Given the description of an element on the screen output the (x, y) to click on. 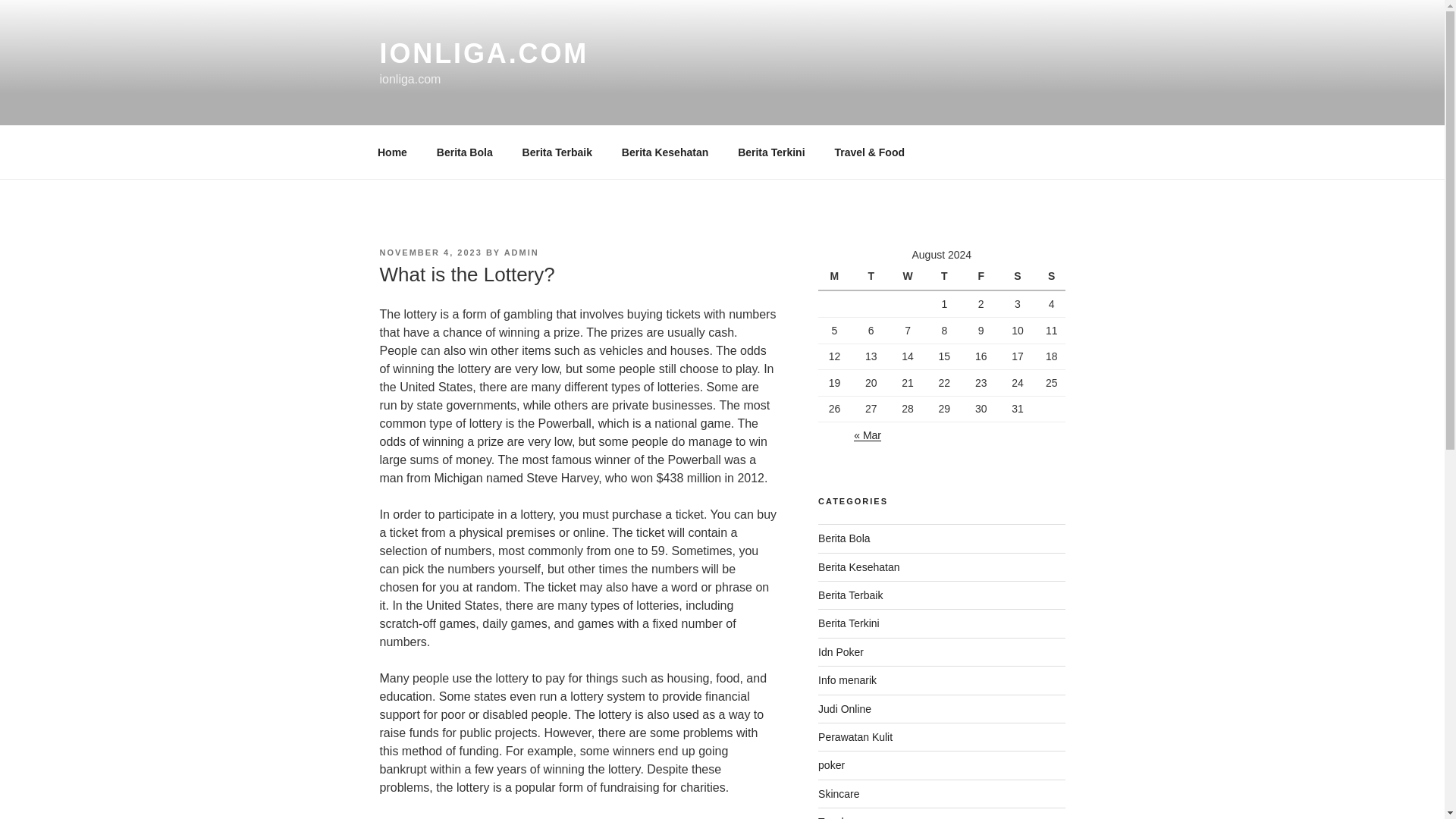
Berita Terbaik (556, 151)
Togel (830, 817)
Info menarik (847, 680)
ADMIN (520, 252)
Berita Terbaik (850, 594)
Skincare (838, 793)
Wednesday (909, 276)
Sunday (1051, 276)
Berita Kesehatan (858, 567)
poker (831, 765)
